Given the description of an element on the screen output the (x, y) to click on. 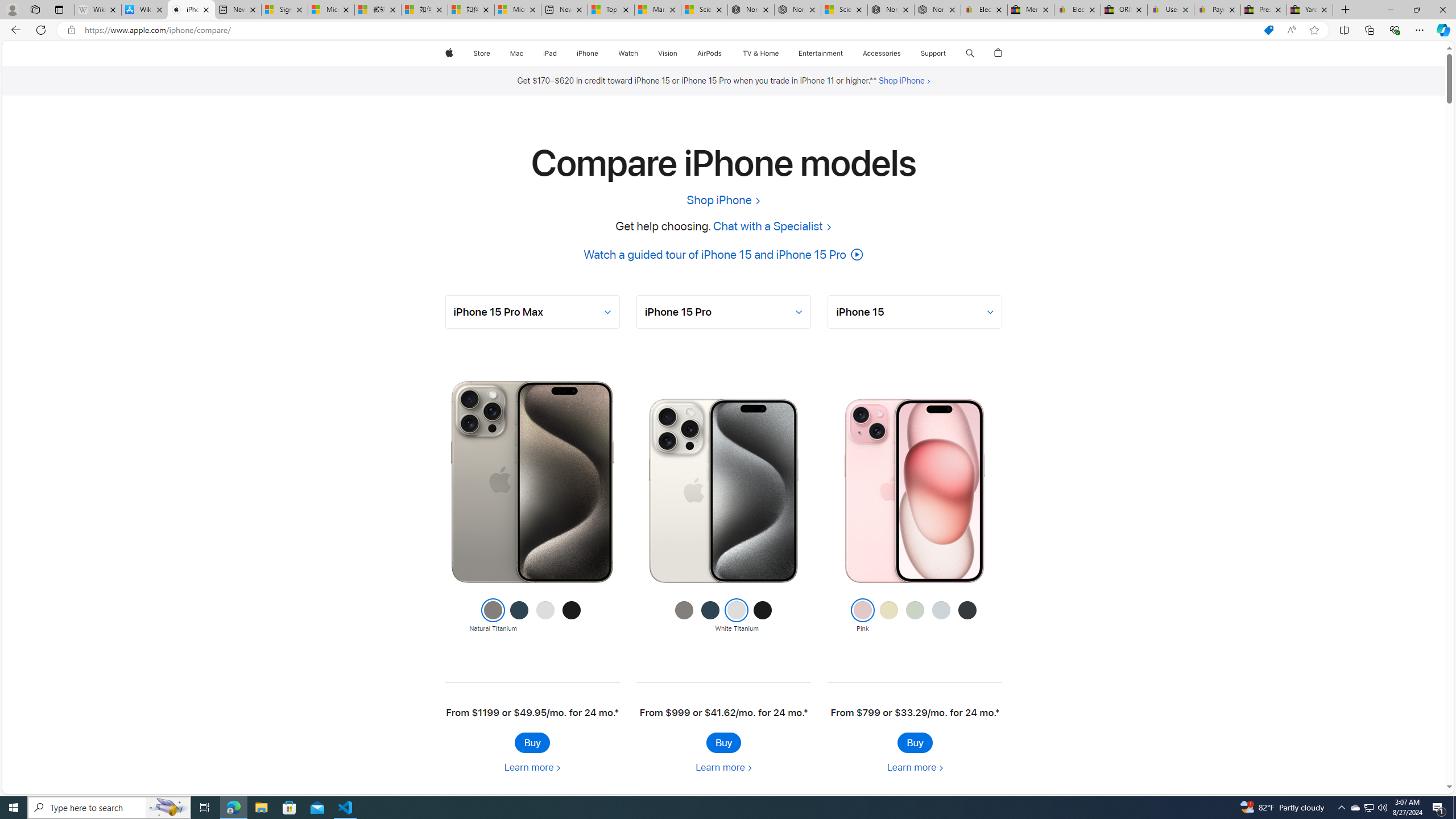
Vision menu (678, 53)
Footnote ** symbol (872, 80)
Accessories menu (903, 53)
Learn more about iPhone 15 (914, 767)
Class: globalnav-submenu-trigger-item (948, 53)
Yellow (888, 615)
Microsoft account | Account Checkup (517, 9)
Black (967, 615)
Black Titanium (762, 615)
